Given the description of an element on the screen output the (x, y) to click on. 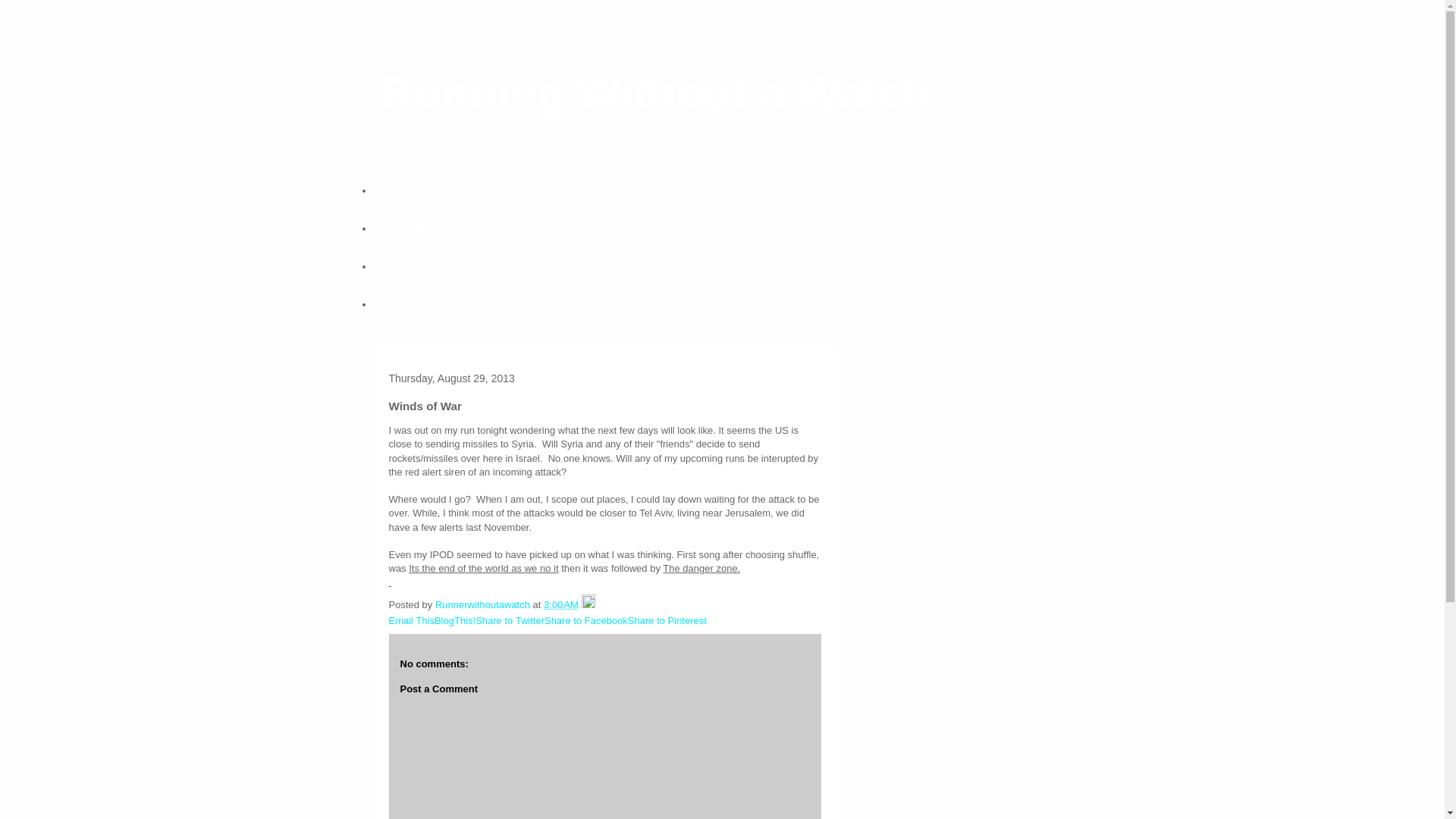
Share to Twitter (510, 620)
About (408, 303)
permanent link (560, 604)
Contact (413, 228)
Email This (410, 620)
Email This (410, 620)
Share to Facebook (585, 620)
BlogThis! (454, 620)
Gear (404, 266)
Runnerwithoutawatch (483, 604)
author profile (483, 604)
BlogThis! (454, 620)
Share to Twitter (510, 620)
Share to Pinterest (666, 620)
